Given the description of an element on the screen output the (x, y) to click on. 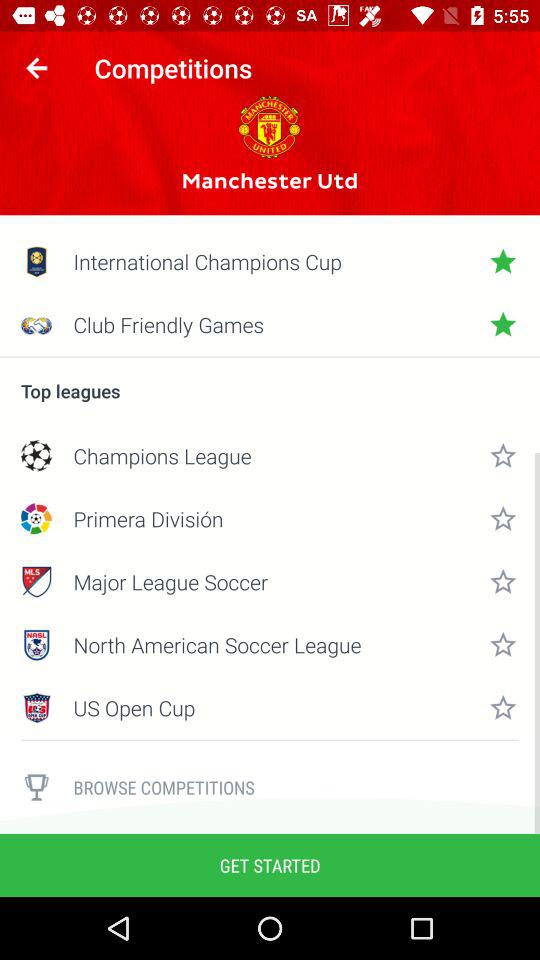
open the north american soccer icon (269, 644)
